Given the description of an element on the screen output the (x, y) to click on. 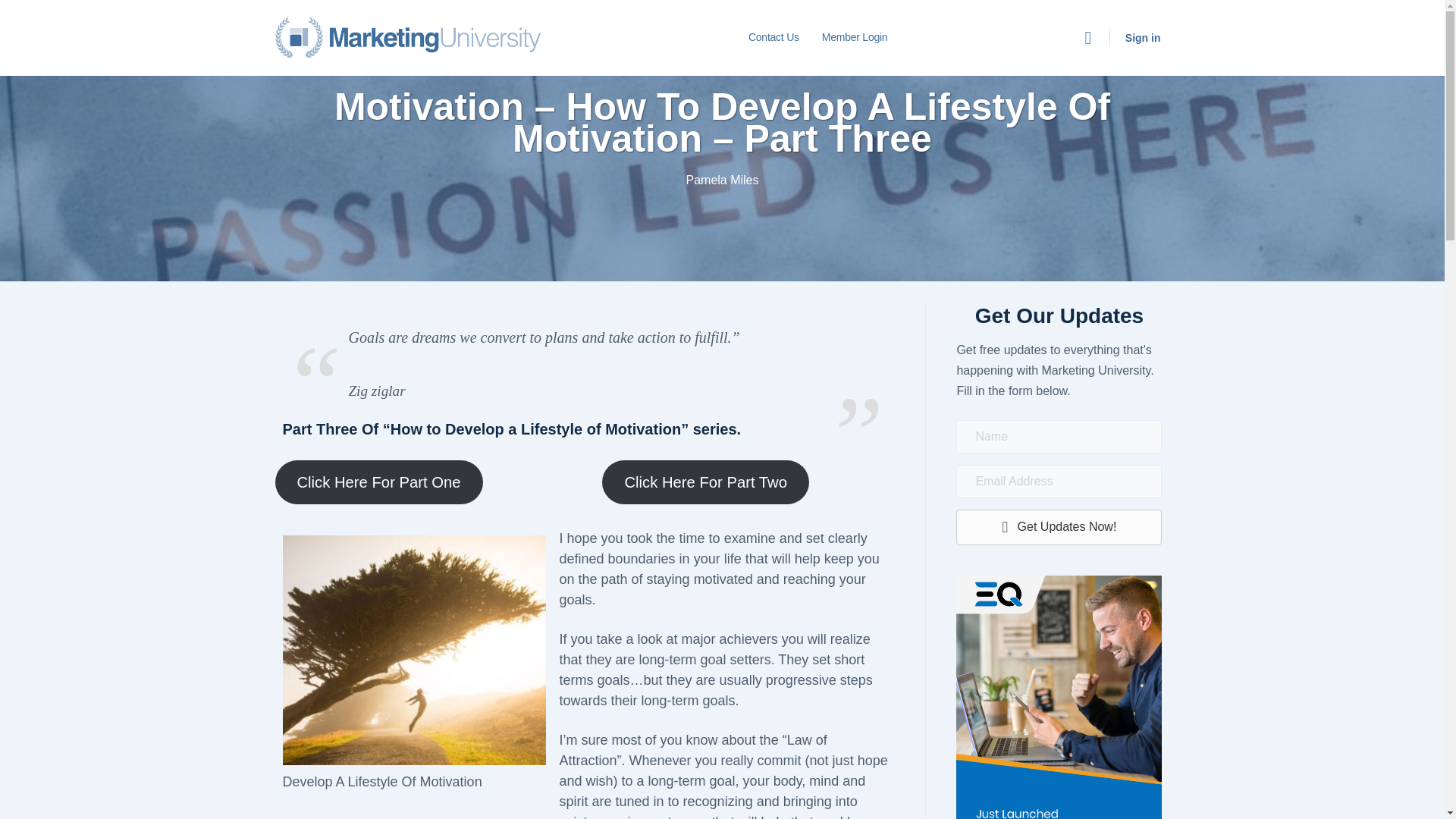
Member Login (854, 38)
Pamela Miles (721, 179)
Click Here For Part One (378, 482)
Click Here For Part Two (705, 482)
Sign in (1143, 37)
Get Updates Now! (1058, 527)
